Given the description of an element on the screen output the (x, y) to click on. 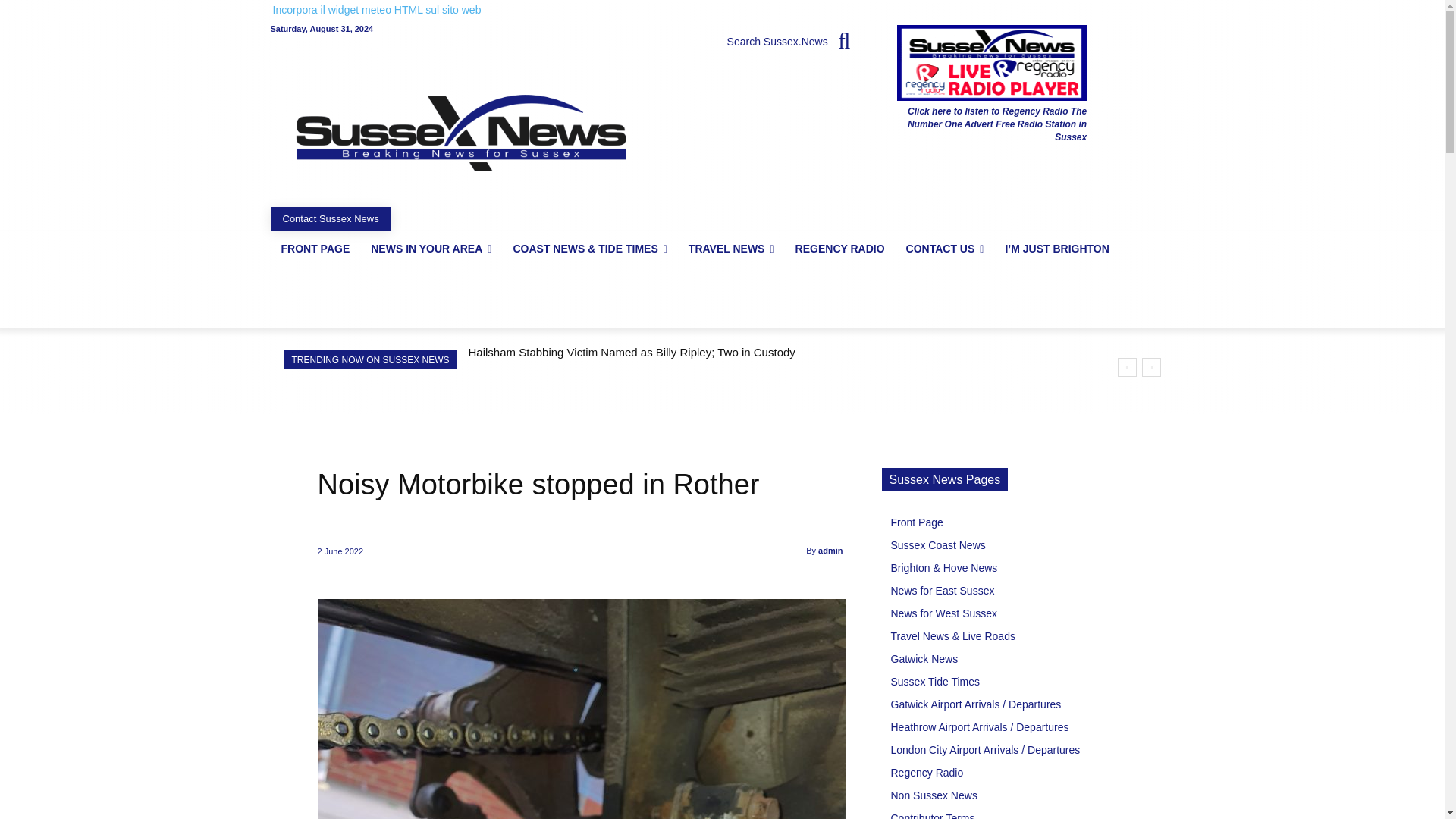
Regency Radio Sussex news (991, 62)
Sussex News Pride Logo  (459, 132)
Incorpora il widget meteo HTML sul sito web (377, 9)
CONTACT US (944, 248)
TRAVEL NEWS (731, 248)
NEWS IN YOUR AREA (430, 248)
Search Sussex.News (793, 41)
Contact Sussex News  (329, 218)
FRONT PAGE (314, 248)
